Given the description of an element on the screen output the (x, y) to click on. 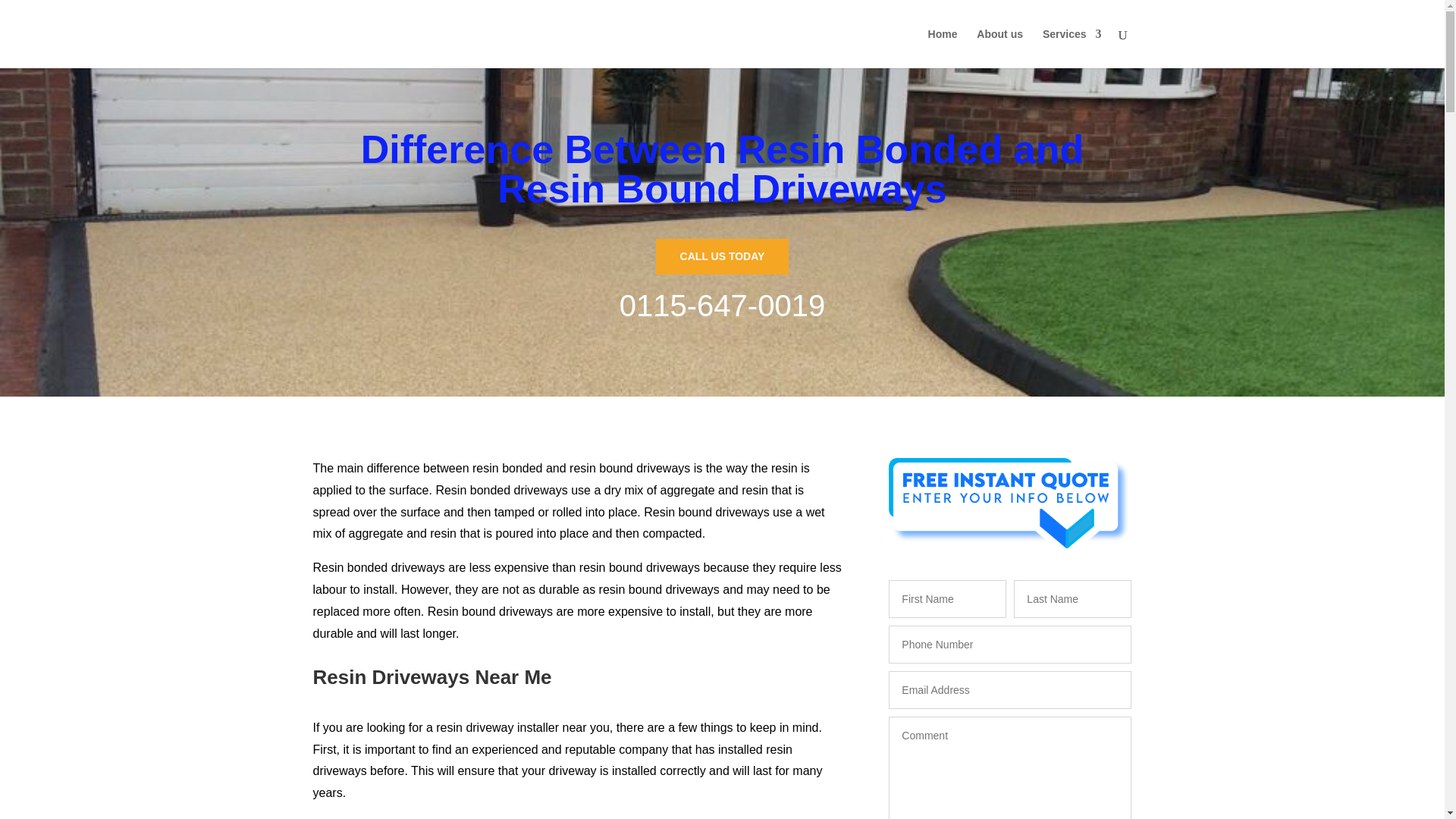
About us (999, 47)
CALL US TODAY (722, 257)
Services (1072, 47)
